Given the description of an element on the screen output the (x, y) to click on. 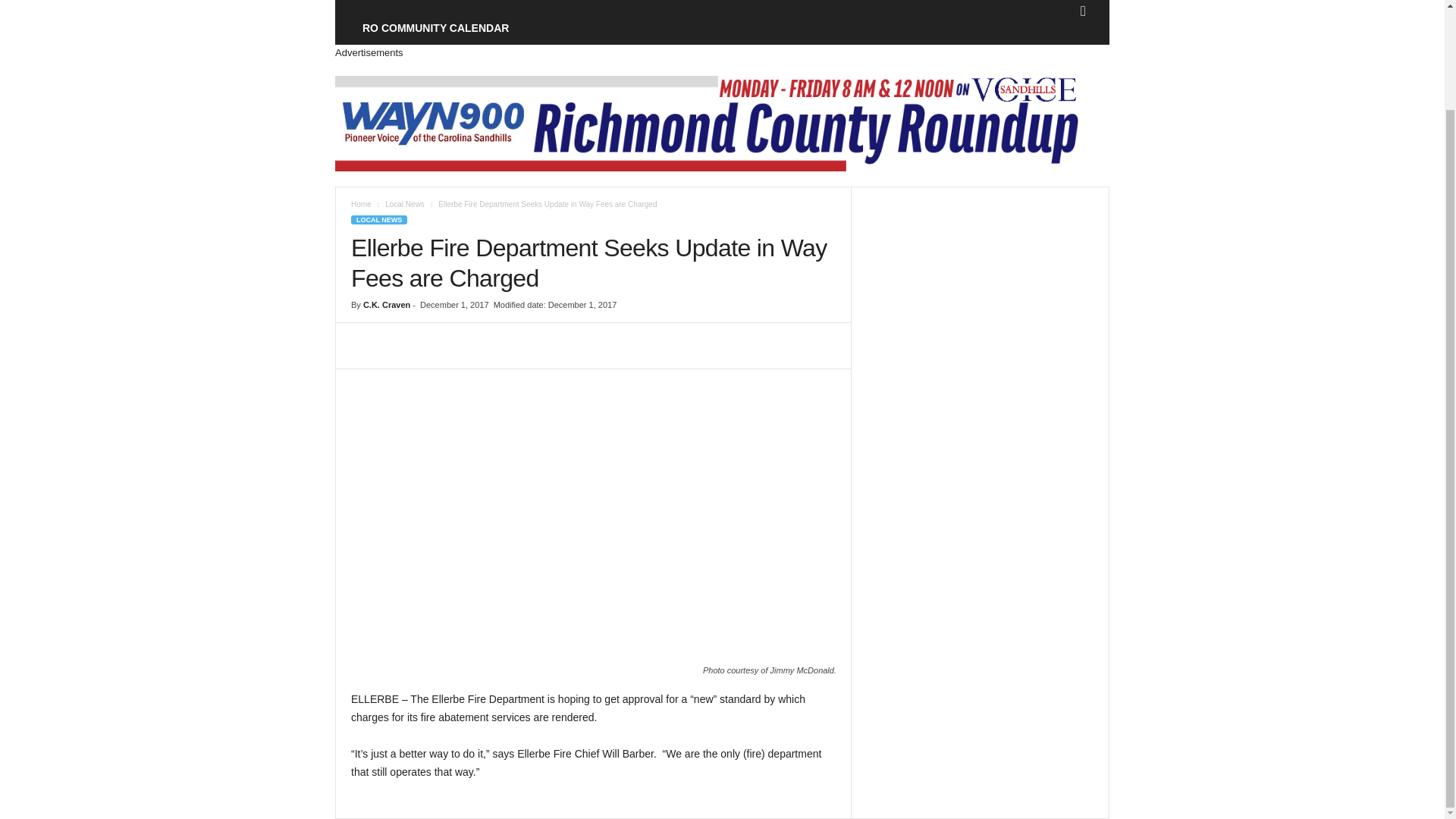
LOCAL NEWS (452, 5)
WAYN 900 (949, 5)
HOME (378, 5)
ROVIDEO (876, 5)
RO COMMUNITY CALENDAR (434, 28)
LIFESTYLE (733, 5)
OBITUARIES (649, 5)
OPINION (807, 5)
View all posts in Local News (405, 203)
LOCAL SPORTS (552, 5)
